Given the description of an element on the screen output the (x, y) to click on. 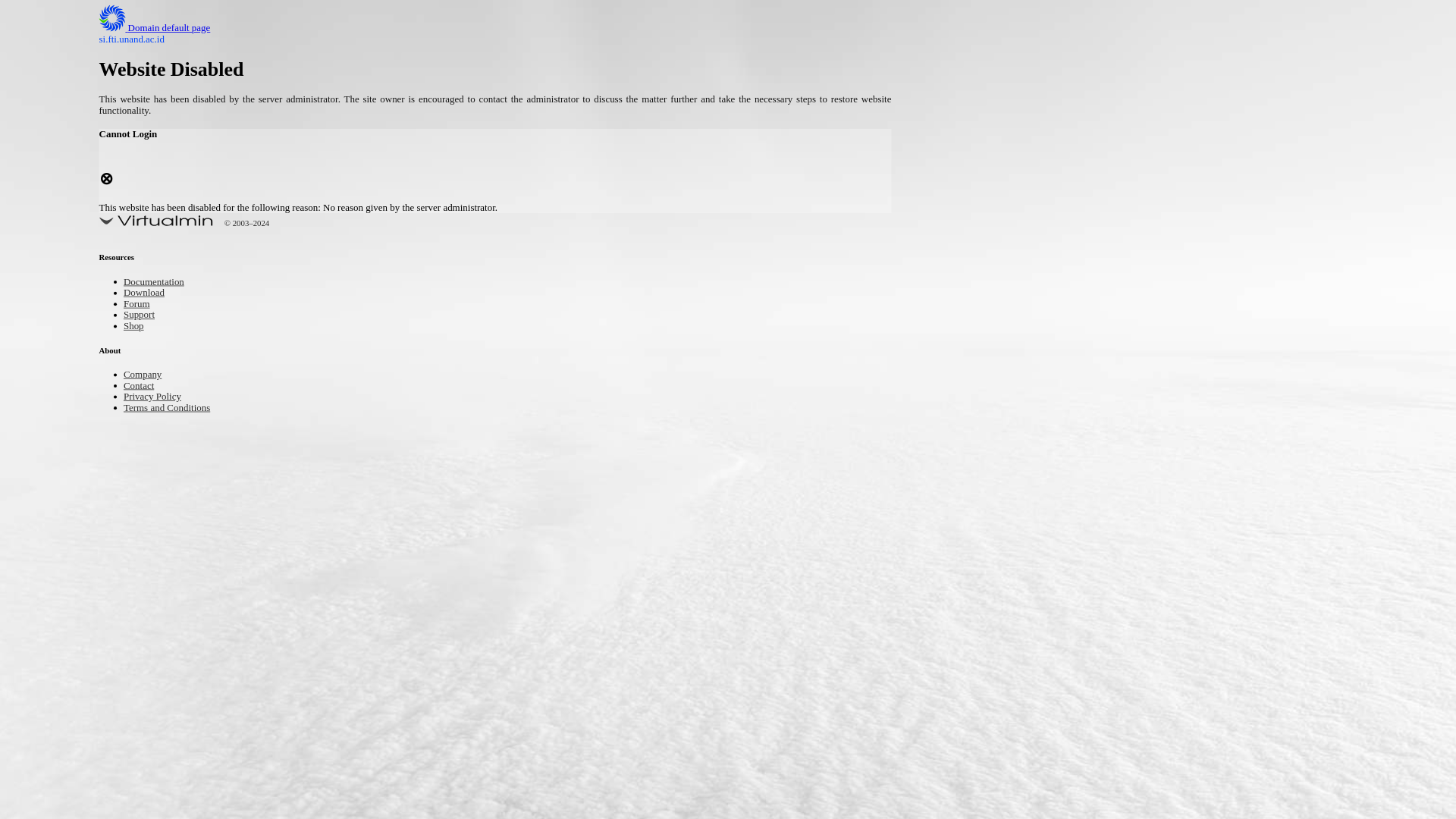
Contact (142, 386)
Domain default page (167, 29)
Download (148, 293)
Support (142, 315)
Forum (139, 305)
Shop (135, 327)
Company (146, 374)
Privacy Policy (159, 397)
Documentation (160, 282)
Terms and Conditions (176, 408)
